Given the description of an element on the screen output the (x, y) to click on. 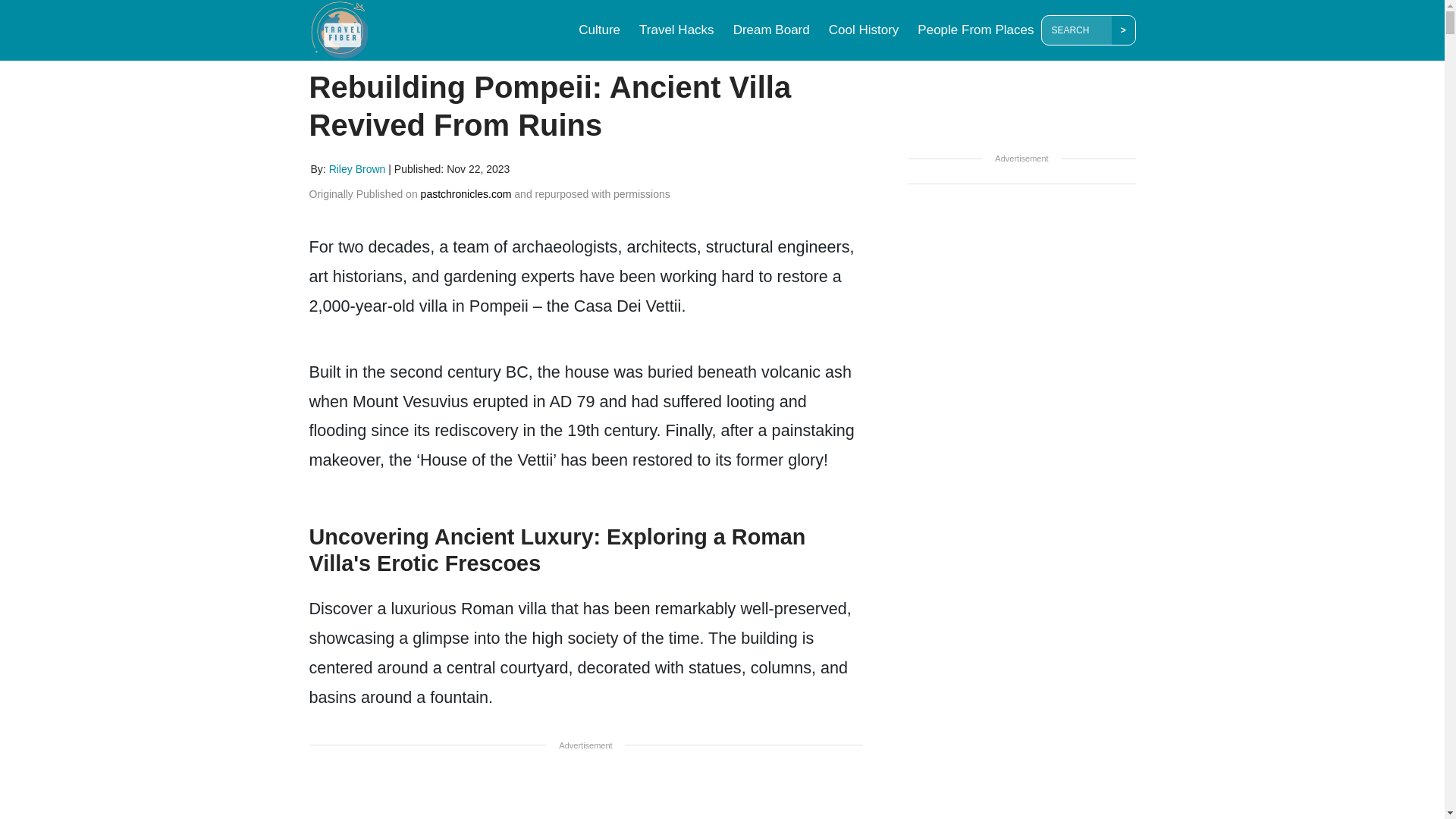
Cool History (864, 30)
Riley Brown (358, 168)
Travel Hacks (676, 30)
Search (1079, 30)
pastchronicles.com (466, 193)
Culture (598, 30)
People From Places (975, 30)
Dream Board (770, 30)
